Given the description of an element on the screen output the (x, y) to click on. 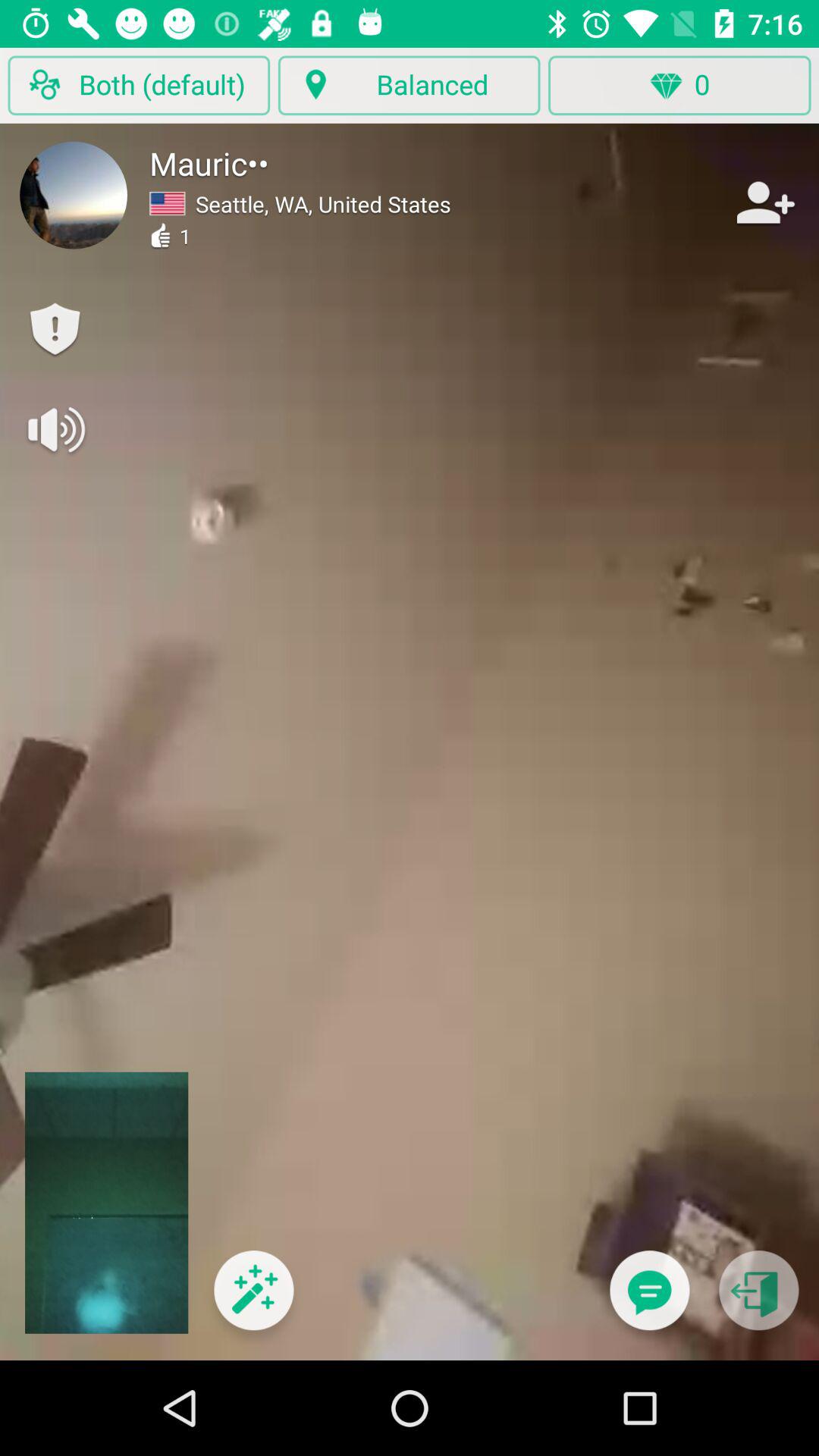
select the icon below both (default) item (73, 195)
